Given the description of an element on the screen output the (x, y) to click on. 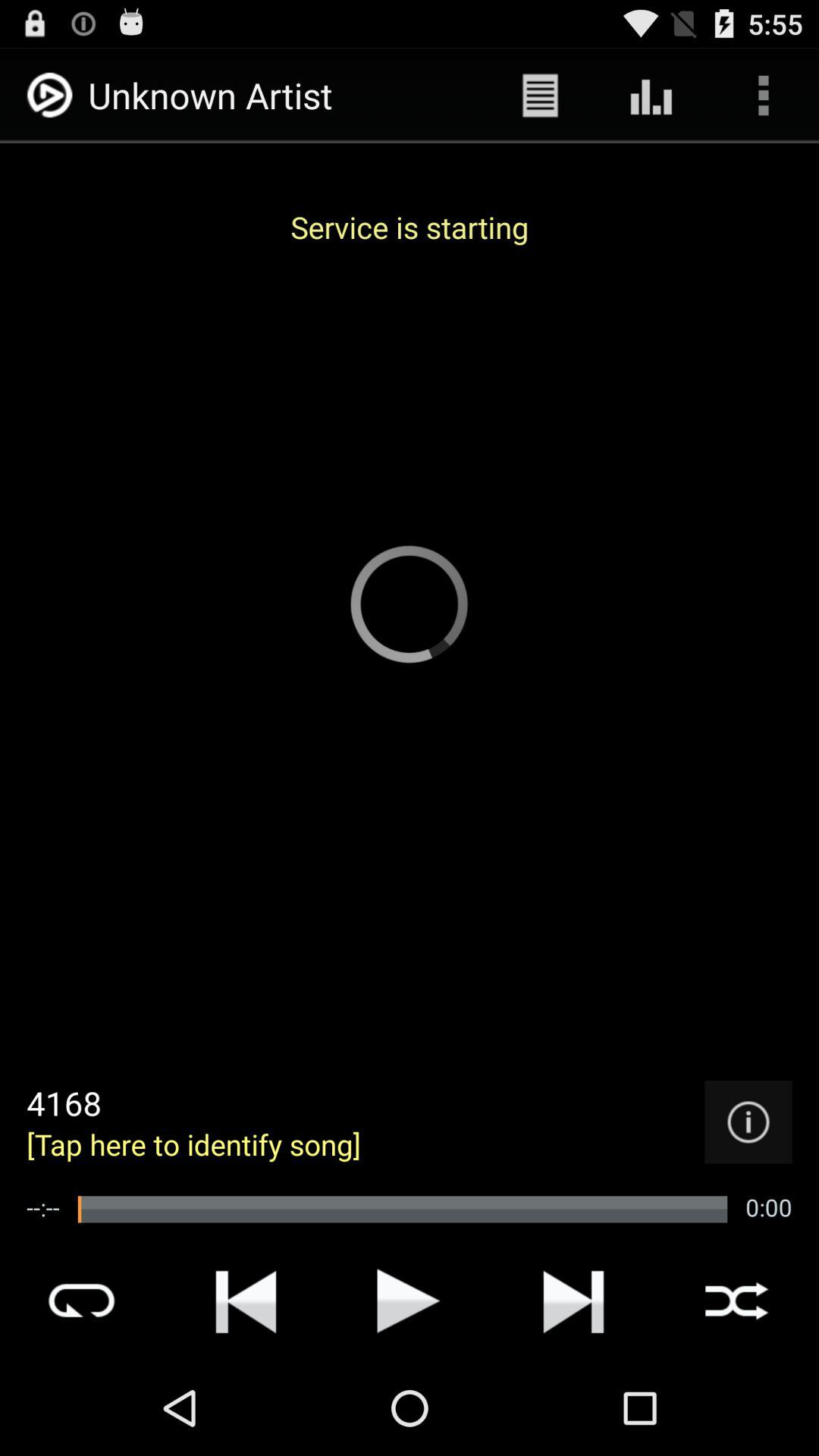
select the item below the service is starting icon (748, 1121)
